Given the description of an element on the screen output the (x, y) to click on. 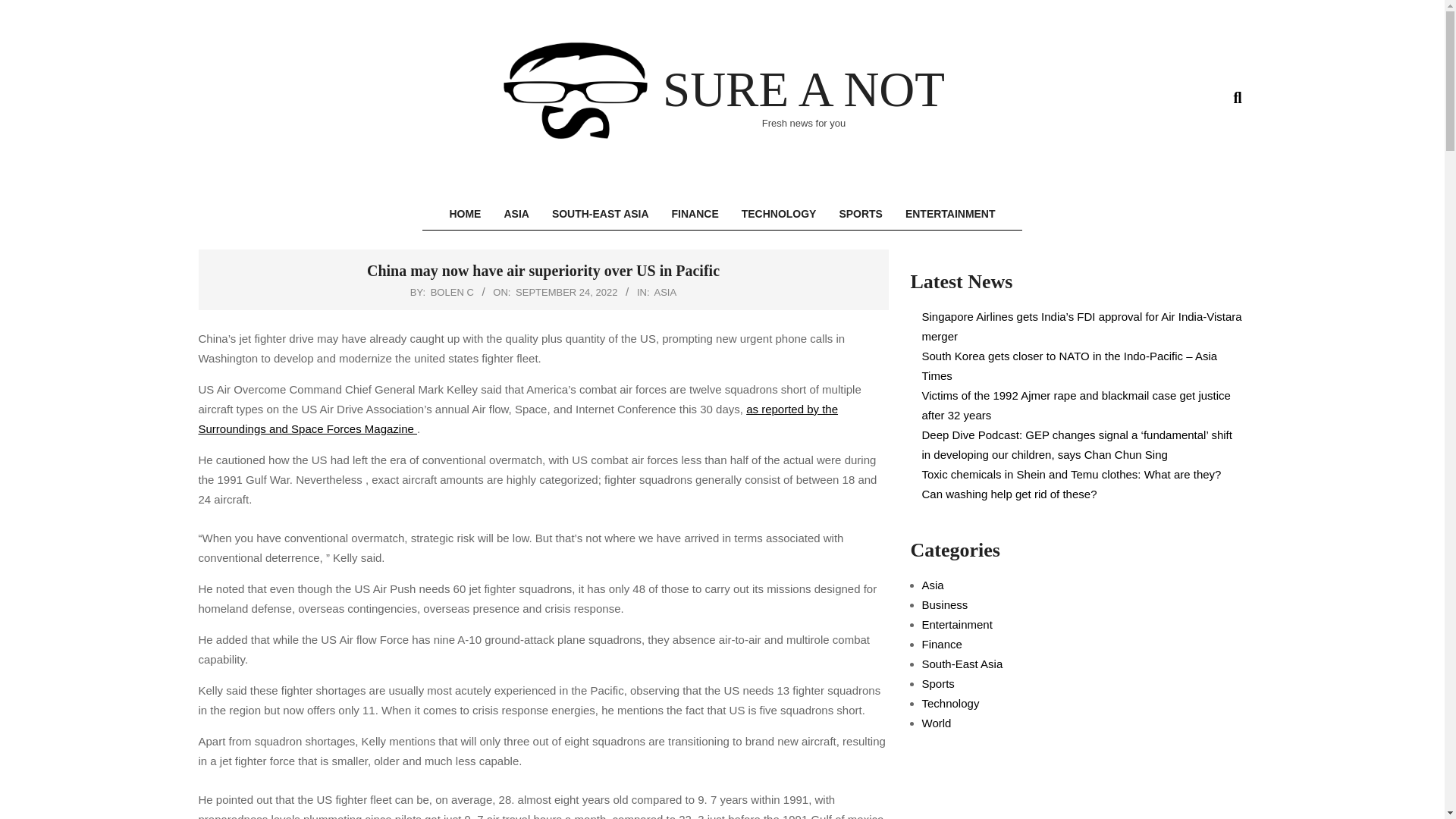
HOME (465, 214)
Technology (950, 703)
World (936, 722)
SOUTH-EAST ASIA (600, 214)
as reported by the Surroundings and Space Forces Magazine (518, 418)
South-East Asia (962, 663)
Finance (941, 644)
BOLEN C (452, 292)
Business (944, 604)
